Given the description of an element on the screen output the (x, y) to click on. 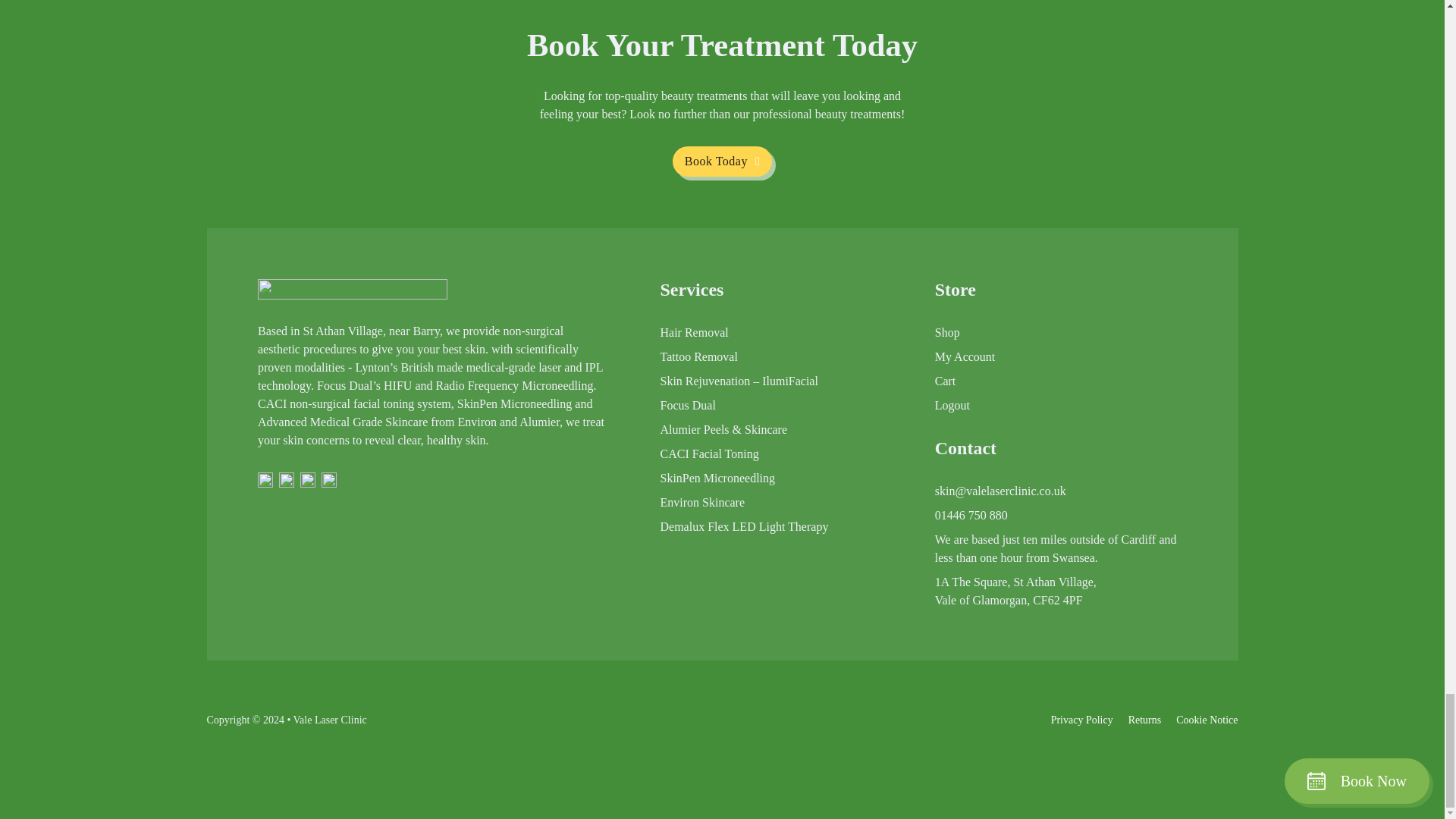
Skin Rejuvenation Service (737, 381)
Demalux Flex LED Service (743, 526)
Hair Removal Service (693, 332)
CACI Facial Toning Service (708, 454)
Environ Skincare Service (701, 502)
SkinPen Microneedling Service (716, 478)
Focus Dual Service (686, 405)
Tattoo Removal Service (697, 357)
